Given the description of an element on the screen output the (x, y) to click on. 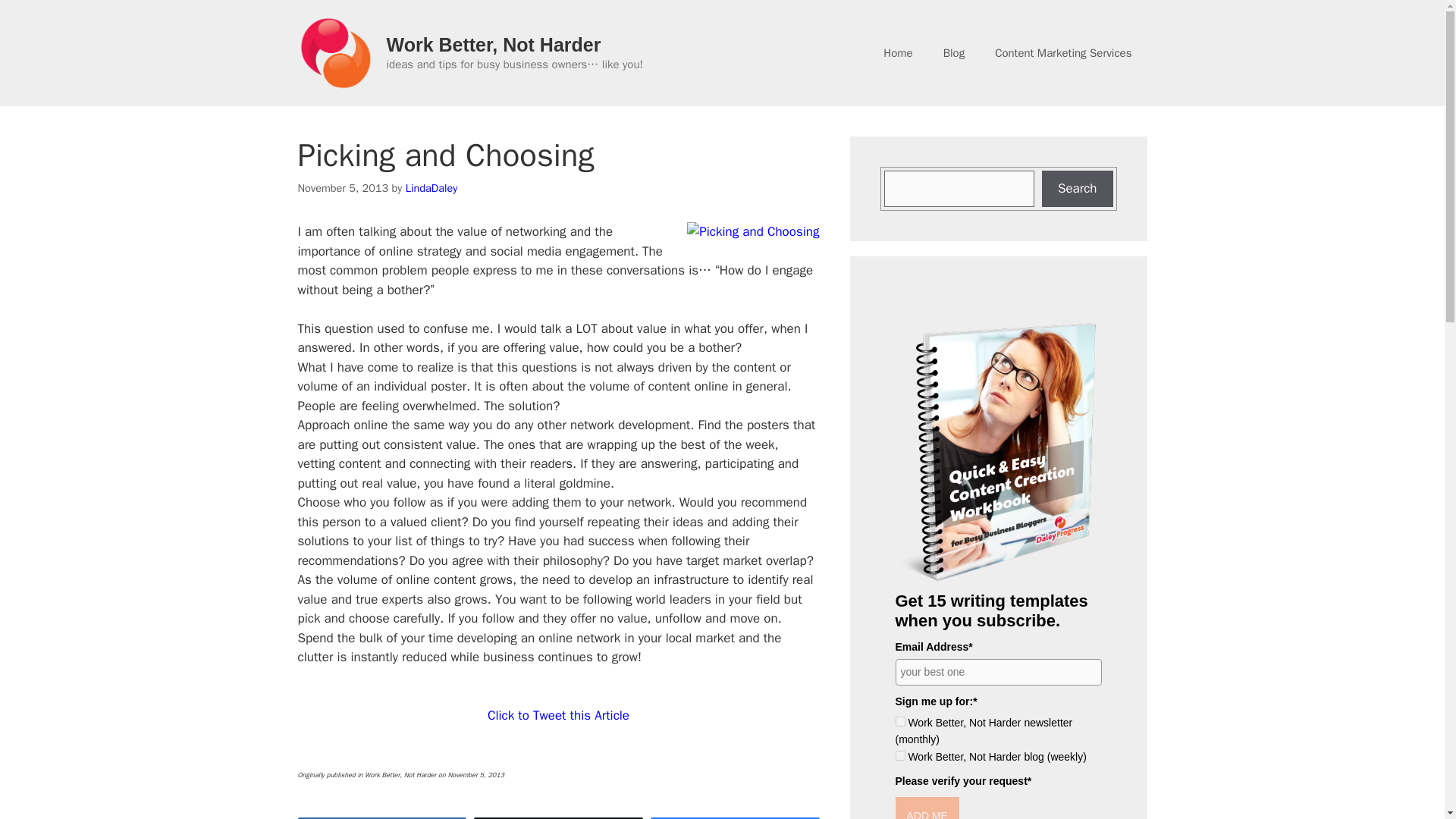
2 (899, 755)
Blog (953, 53)
Content Marketing Services (1063, 53)
View all posts by LindaDaley (432, 187)
Work Better, Not Harder (494, 44)
1 (899, 721)
Click to Tweet this Article (557, 715)
Search (1077, 188)
LindaDaley (432, 187)
ADD ME (926, 807)
Home (897, 53)
